Given the description of an element on the screen output the (x, y) to click on. 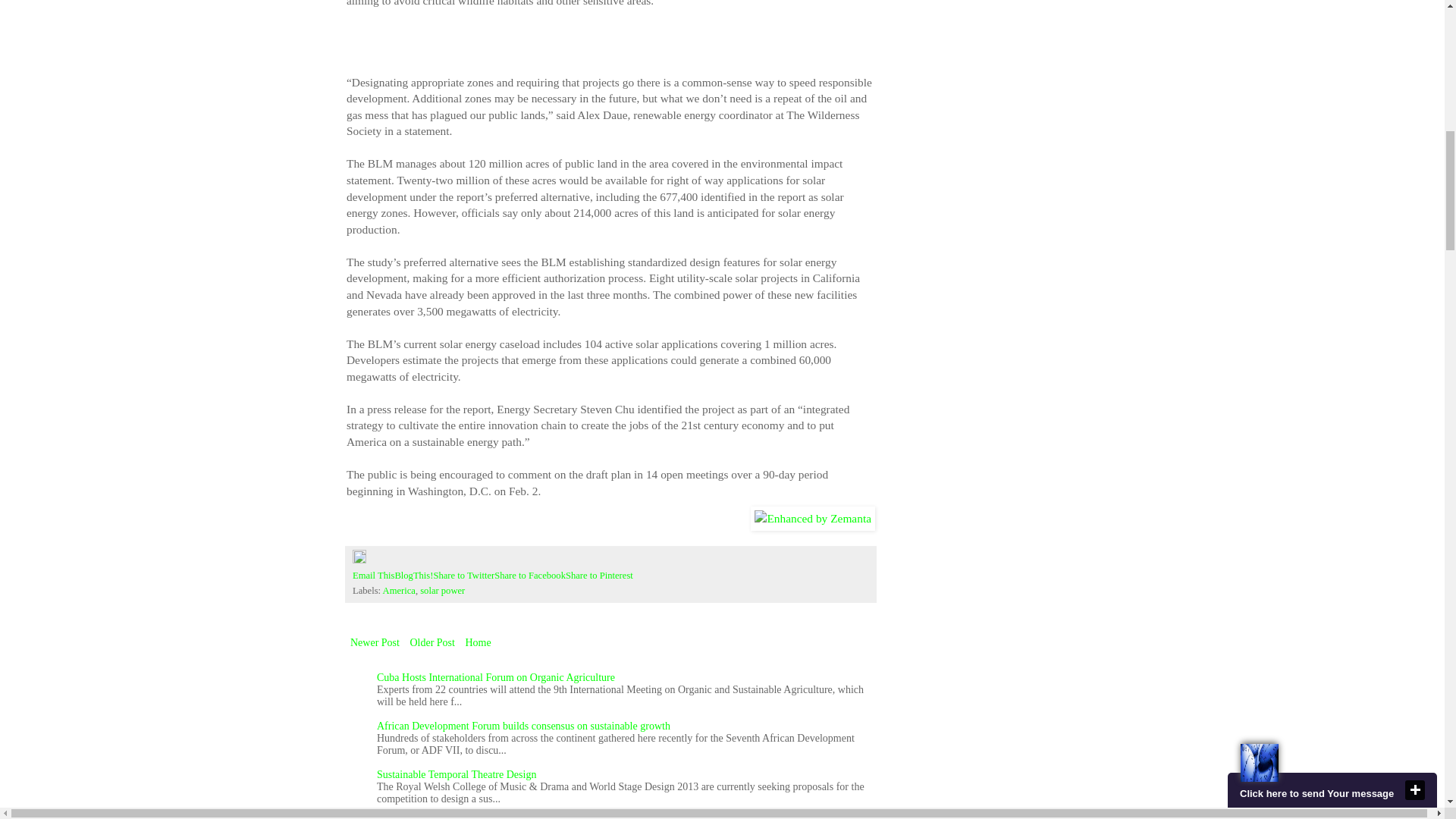
Share to Pinterest (599, 575)
BlogThis! (413, 575)
Cuba Hosts International Forum on Organic Agriculture (495, 677)
Older Post (432, 642)
Edit Post (359, 560)
Email This (373, 575)
Newer Post (374, 642)
Share to Facebook (530, 575)
Share to Pinterest (599, 575)
Email This (373, 575)
Older Post (432, 642)
Share to Facebook (530, 575)
Newer Post (374, 642)
Sustainable Temporal Theatre Design (456, 774)
